Given the description of an element on the screen output the (x, y) to click on. 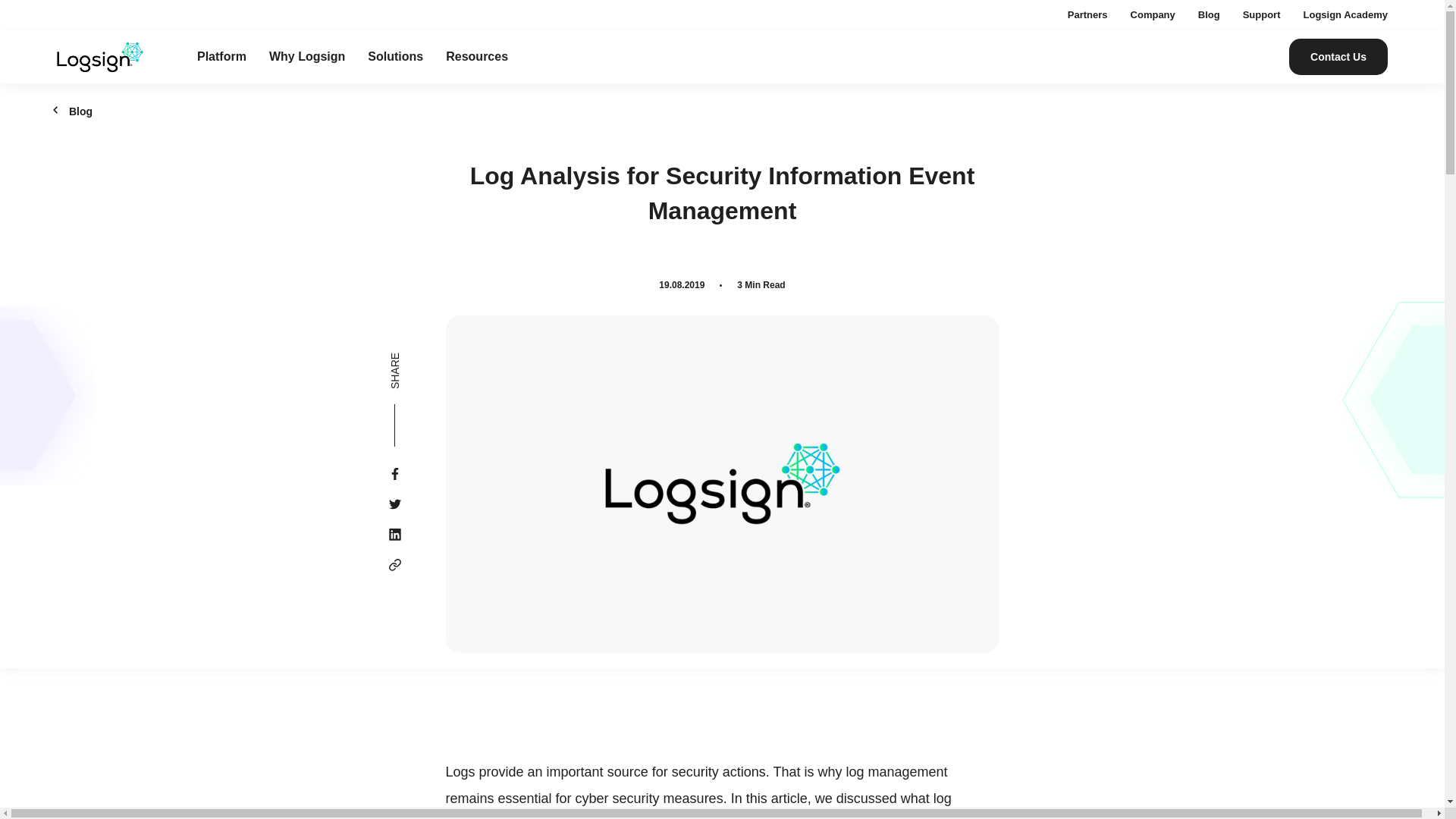
Logsign Logo (99, 57)
Solutions (395, 56)
Platform (221, 56)
link (394, 564)
Company (1152, 14)
Resources (476, 56)
Support (1262, 14)
Blog (1209, 14)
Logsign Academy (1345, 14)
linkedin (394, 534)
Why Logsign (307, 56)
facebook (394, 473)
Partners (1087, 14)
twitter (394, 504)
